Given the description of an element on the screen output the (x, y) to click on. 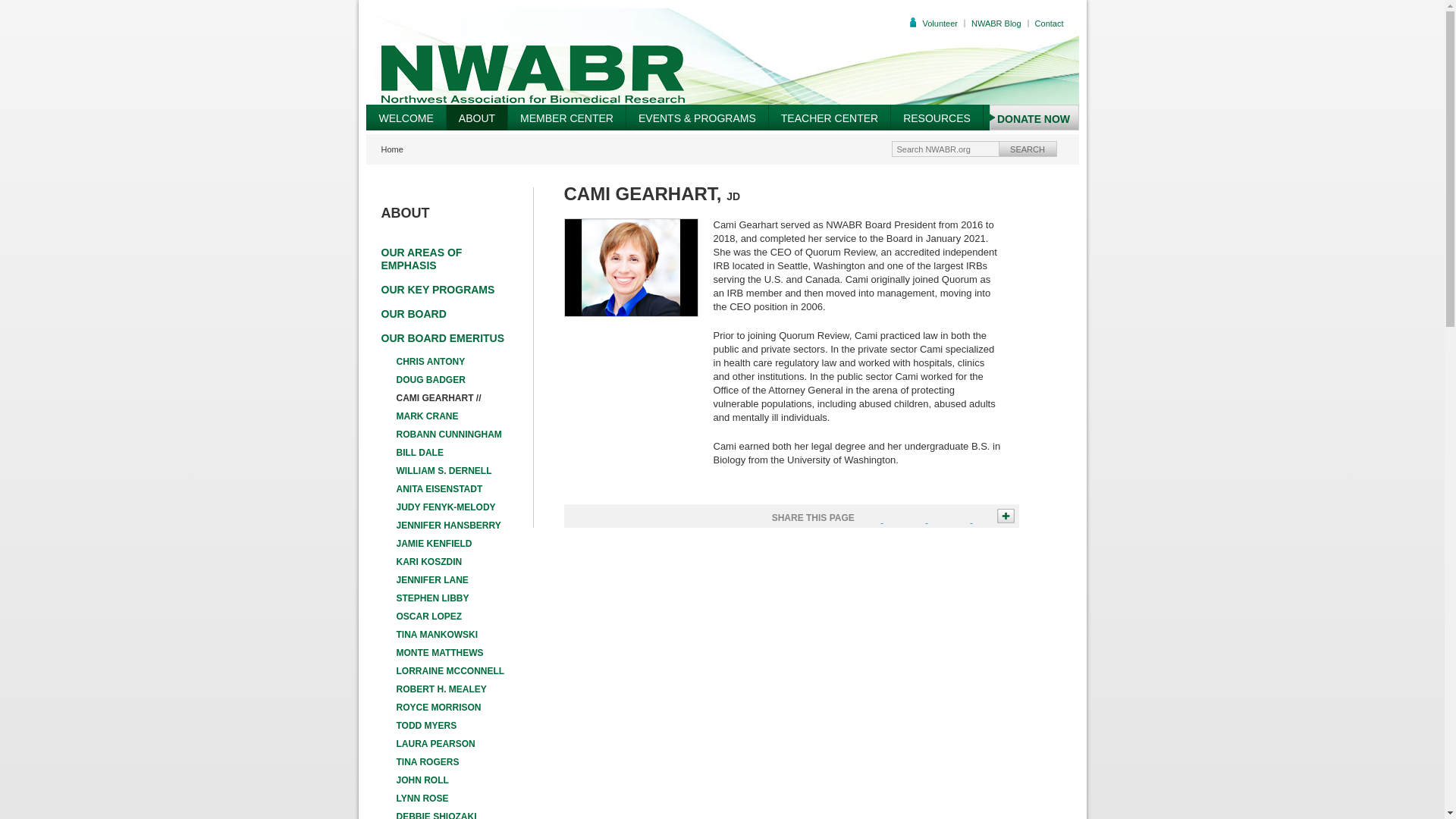
MEMBER CENTER (566, 117)
ABOUT (475, 117)
TEACHER CENTER (828, 117)
NWABR Blog (996, 23)
Enter the terms you wish to search for. (944, 148)
WELCOME (405, 117)
Volunteer (938, 23)
Contact (1049, 23)
Search (1027, 148)
